Given the description of an element on the screen output the (x, y) to click on. 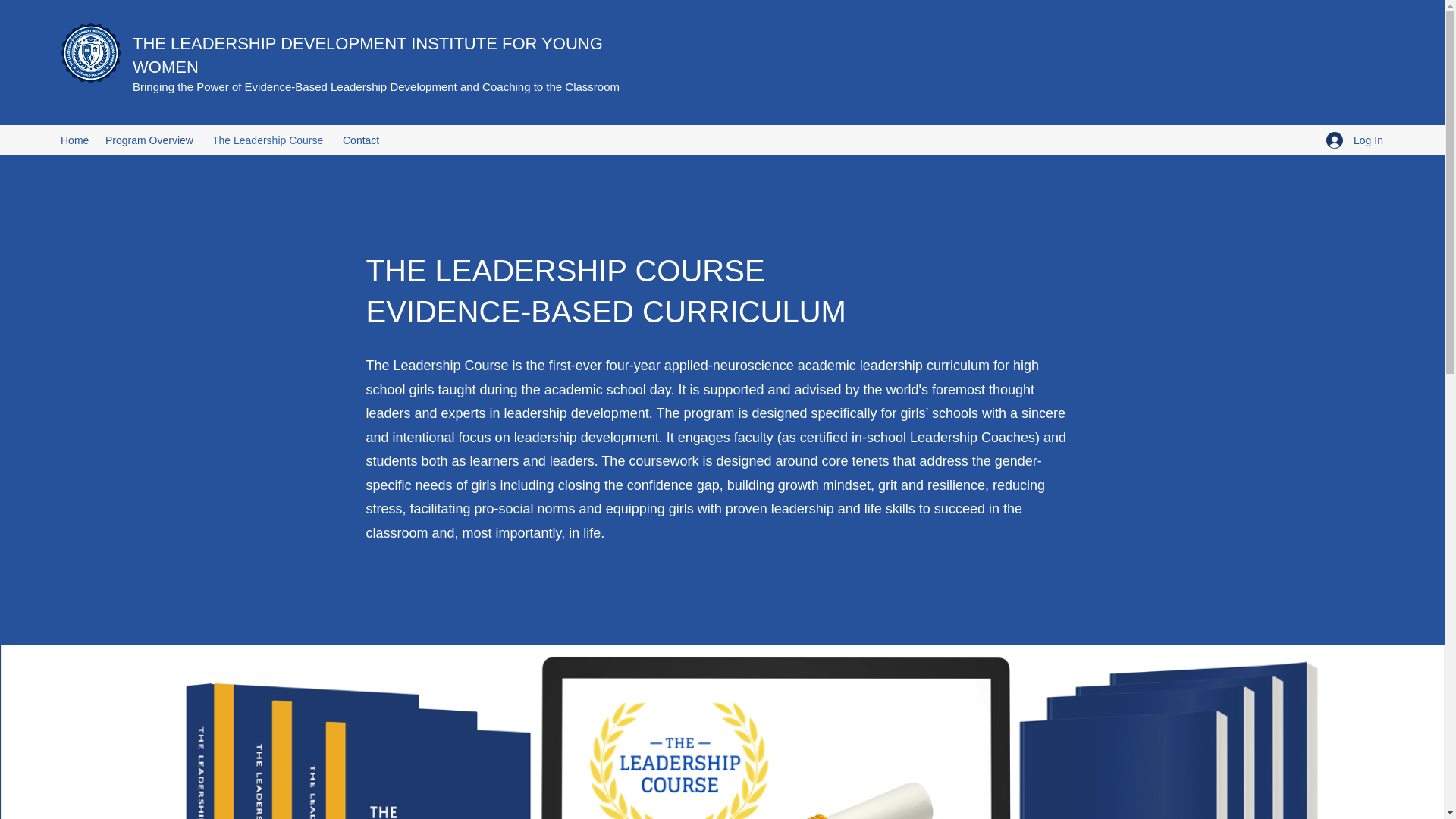
Program Overview (151, 139)
Home (74, 139)
Log In (1350, 139)
The Leadership Course (269, 139)
Contact (362, 139)
